Given the description of an element on the screen output the (x, y) to click on. 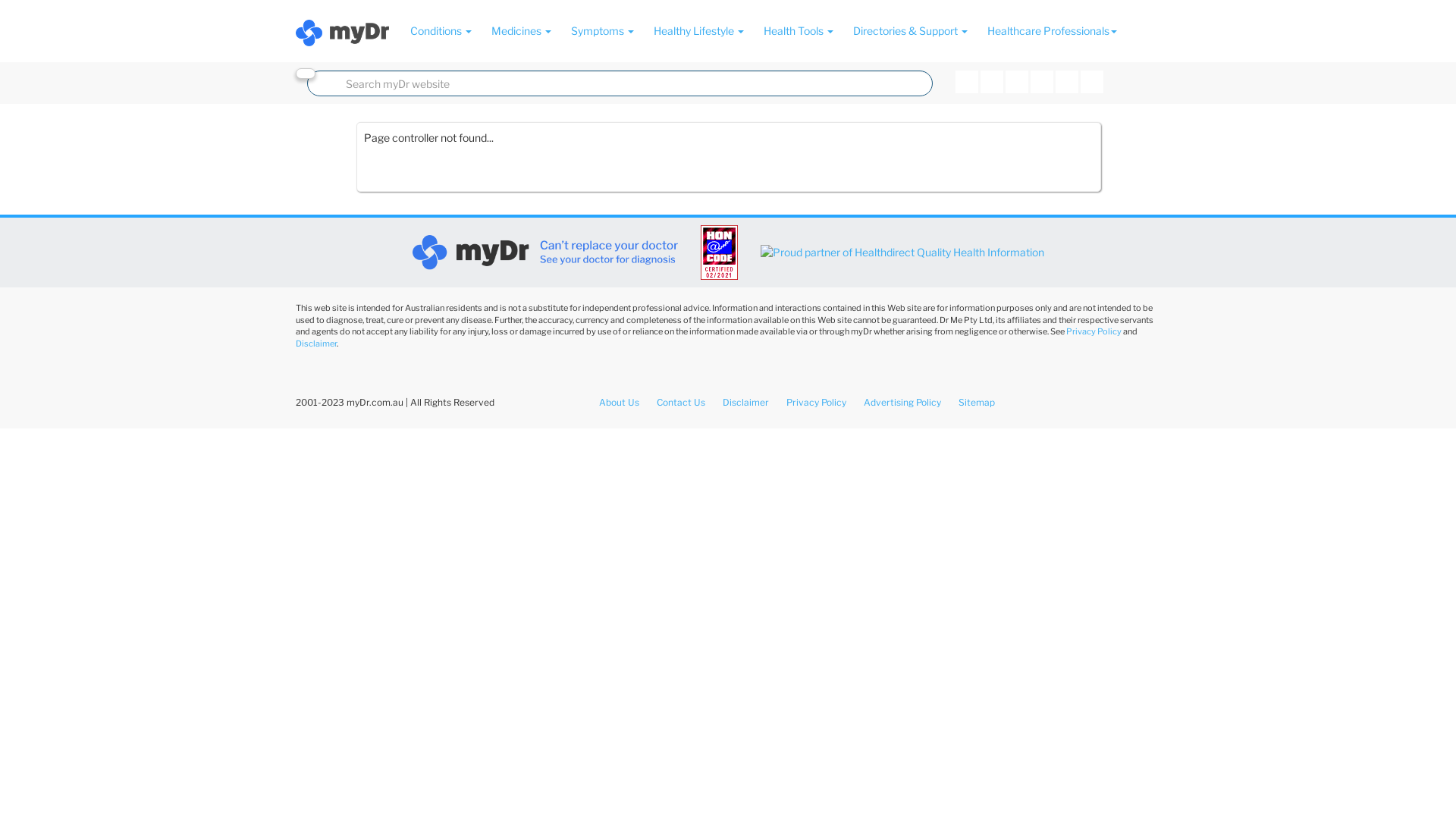
Privacy Policy Element type: text (816, 401)
Disclaimer Element type: text (315, 343)
Privacy Policy Element type: text (1093, 331)
Conditions Element type: text (440, 30)
Healthy Lifestyle Element type: text (698, 30)
Advertising Policy Element type: text (902, 401)
Disclaimer Element type: text (745, 401)
Sitemap Element type: text (976, 401)
Medicines Element type: text (520, 30)
Symptoms Element type: text (602, 30)
Directories & Support Element type: text (910, 30)
About Us Element type: text (619, 401)
Healthcare Professionals Element type: text (1051, 30)
Contact Us Element type: text (680, 401)
Health Tools Element type: text (798, 30)
Proud partner of Healthdirect Quality Health Information Element type: hover (901, 252)
